Given the description of an element on the screen output the (x, y) to click on. 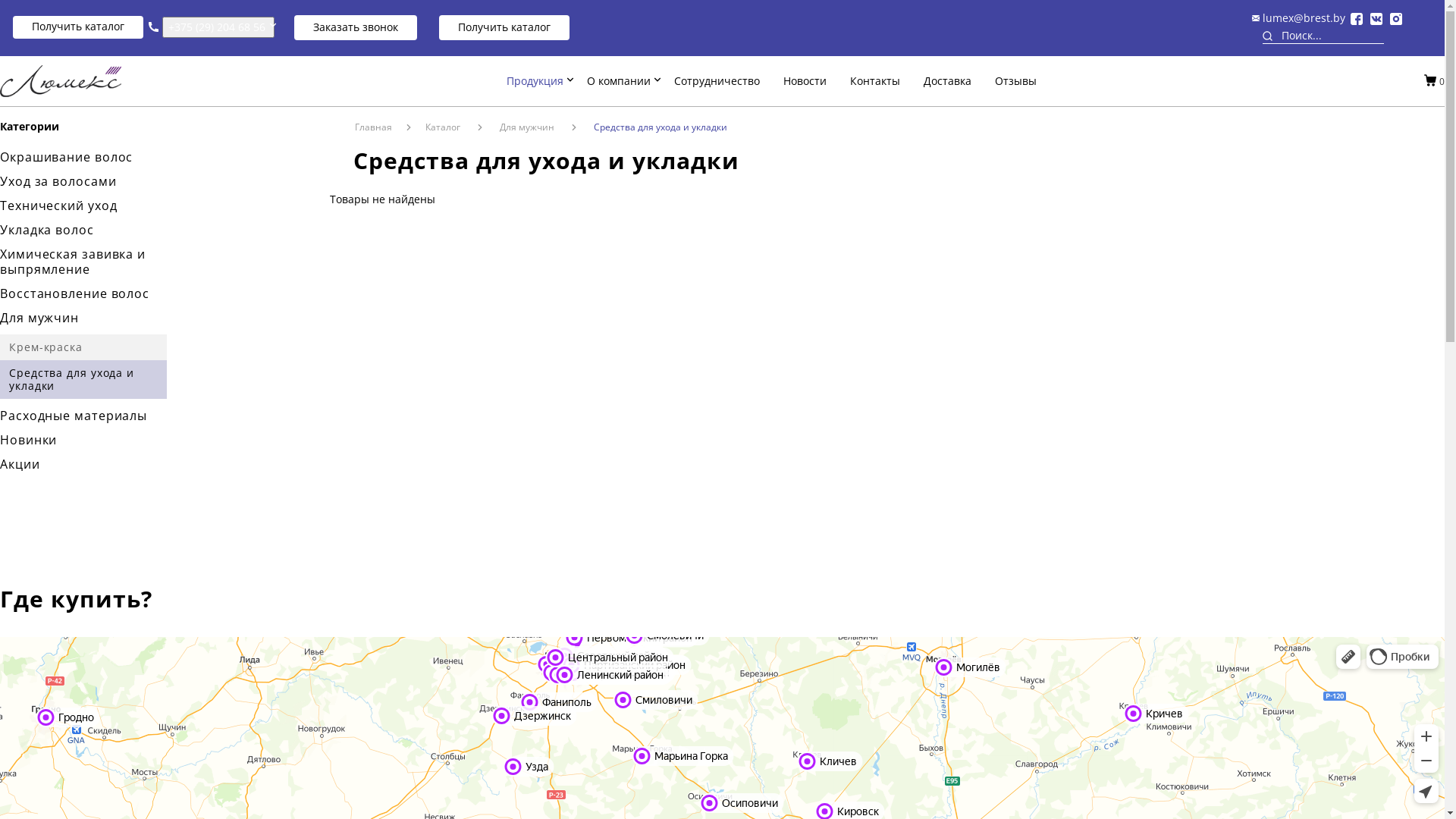
+375 (29) 204 68 56 Element type: text (218, 26)
lumex@brest.by Element type: text (1303, 17)
0 Element type: text (1441, 80)
+375 (29) 204 68 56 Element type: text (216, 26)
